Given the description of an element on the screen output the (x, y) to click on. 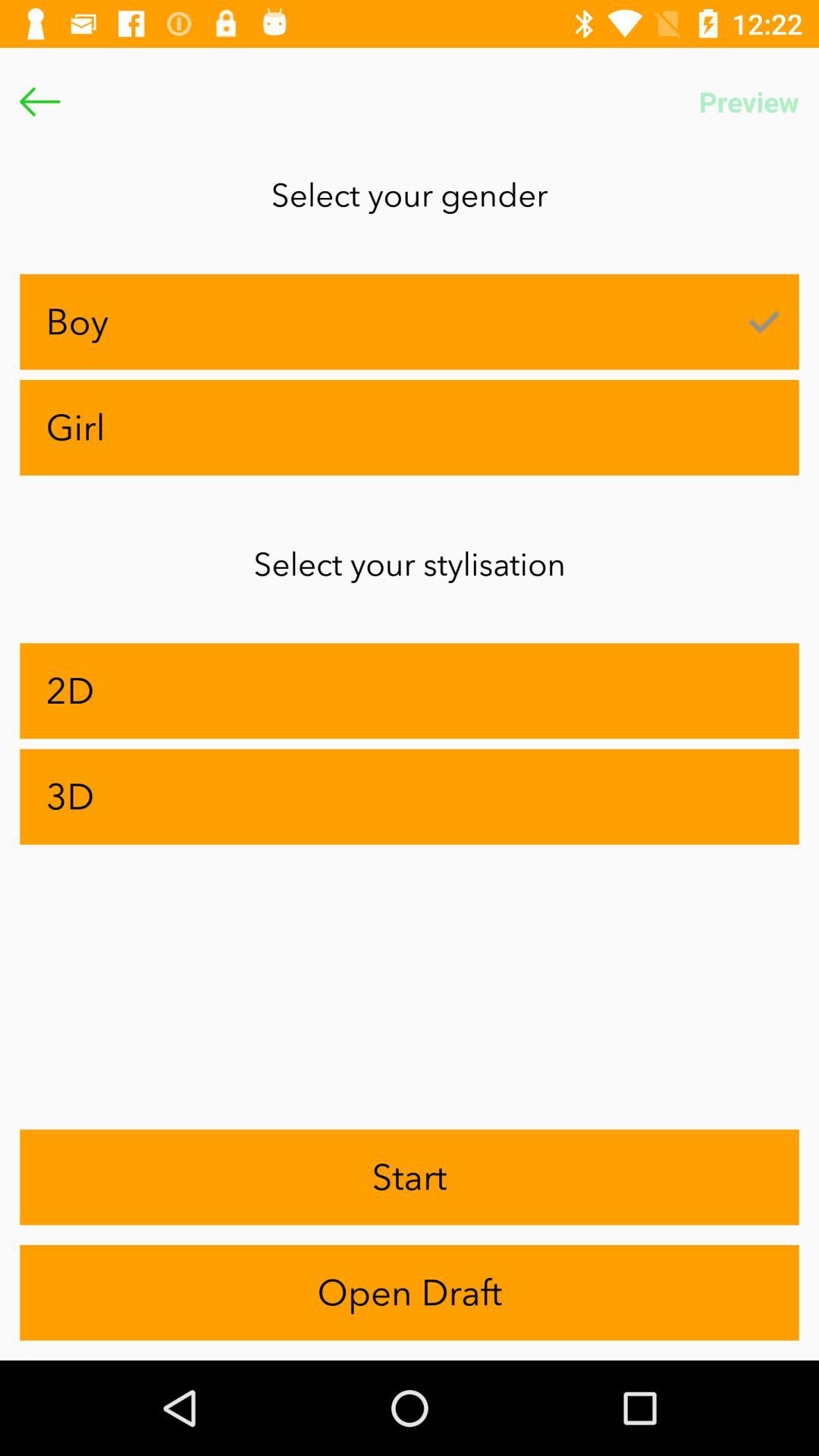
launch the open draft item (409, 1292)
